Given the description of an element on the screen output the (x, y) to click on. 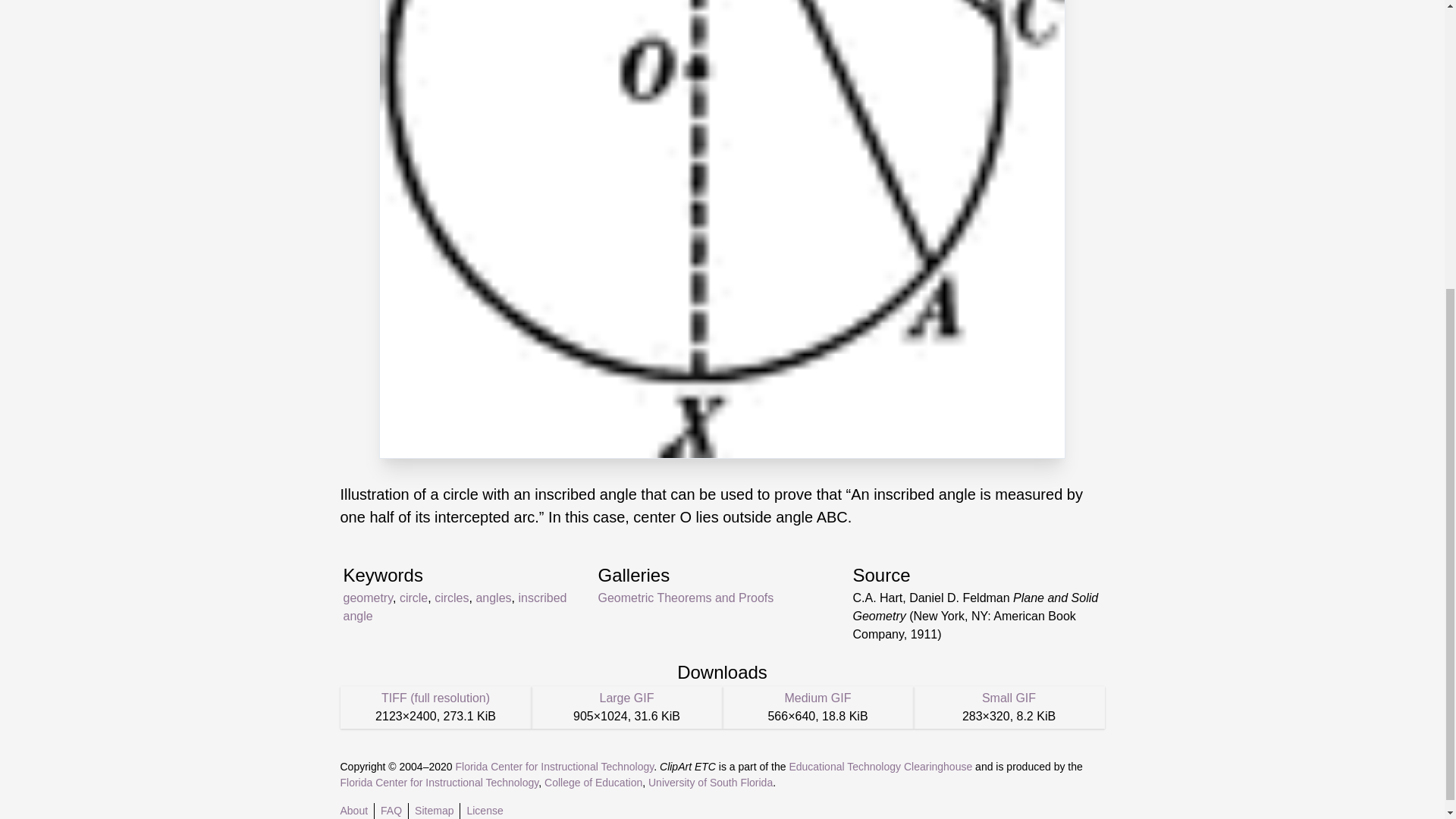
University of South Florida (710, 782)
License (483, 810)
College of Education (593, 782)
Large GIF (625, 697)
Geometric Theorems and Proofs (684, 597)
inscribed angle (454, 606)
circle (413, 597)
FAQ (390, 810)
geometry (367, 597)
Florida Center for Instructional Technology (553, 766)
